Given the description of an element on the screen output the (x, y) to click on. 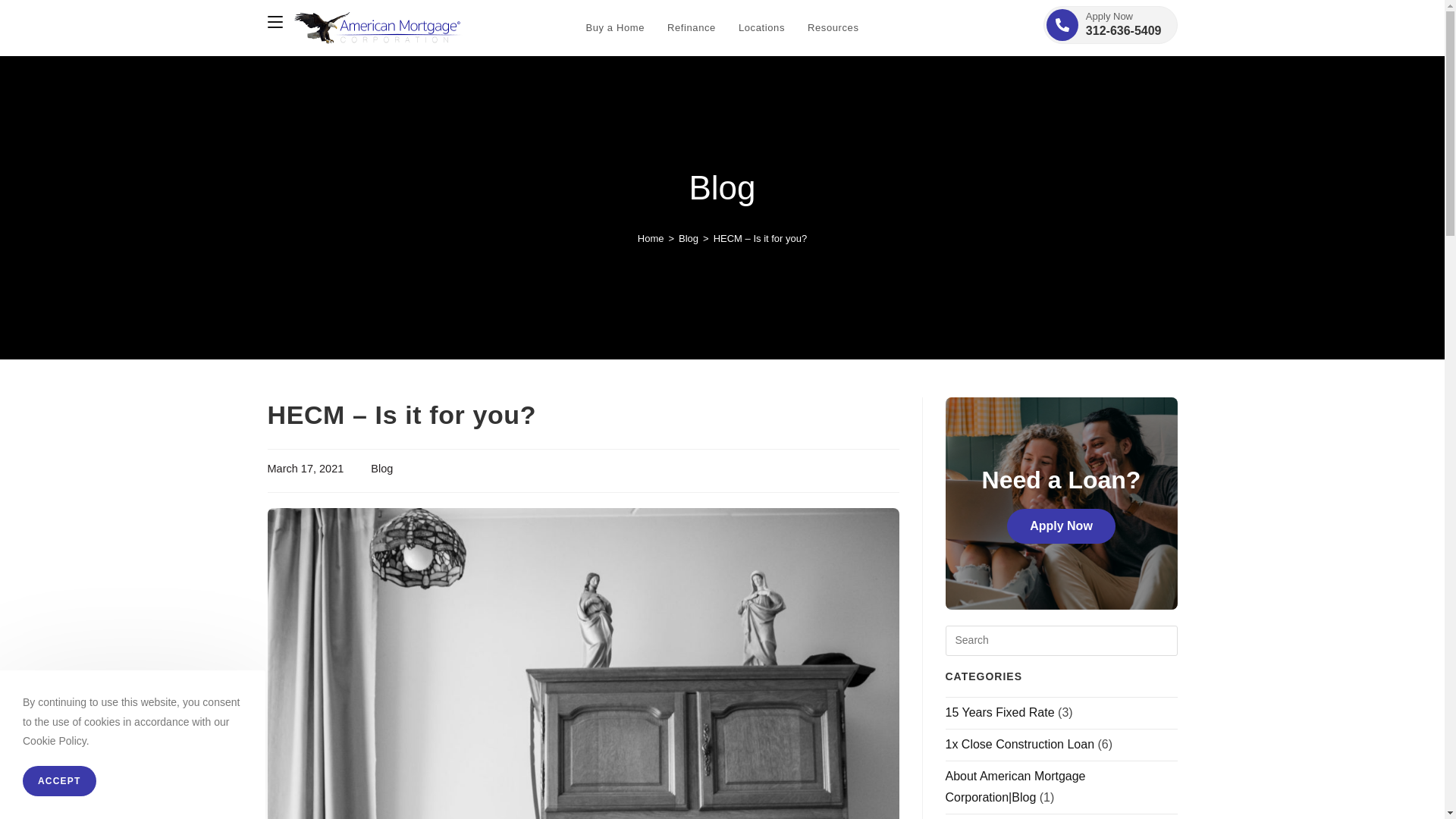
Buy a Home (614, 28)
Refinance (691, 28)
Resources (1103, 24)
Blog (833, 28)
15 Years Fixed Rate (688, 238)
Locations (999, 712)
Home (761, 28)
1x Close Construction Loan (650, 238)
Blog (1019, 744)
